Given the description of an element on the screen output the (x, y) to click on. 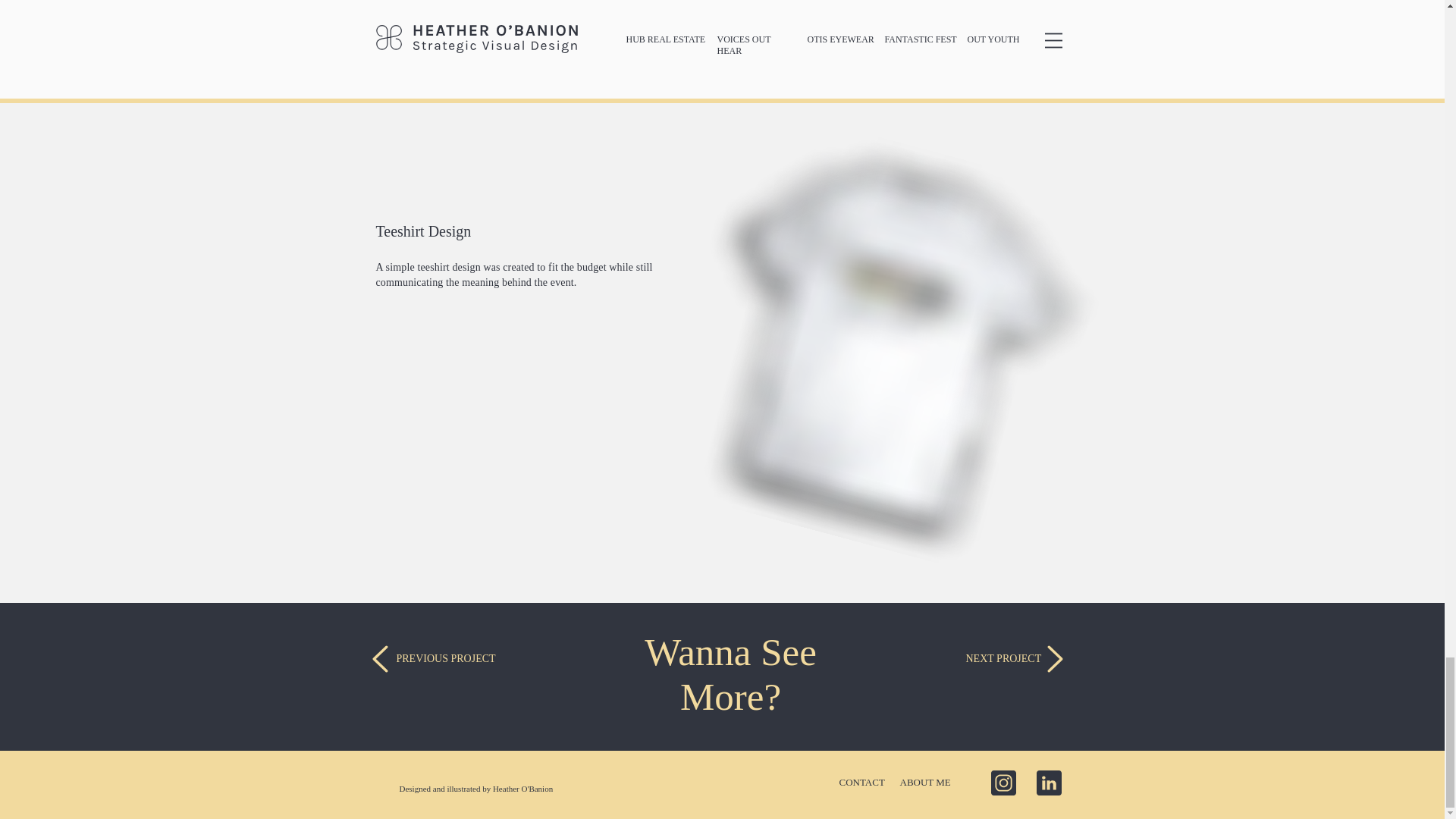
ABOUT ME (924, 781)
PREVIOUS PROJECT (445, 658)
CONTACT (860, 781)
NEXT PROJECT (1004, 658)
